Given the description of an element on the screen output the (x, y) to click on. 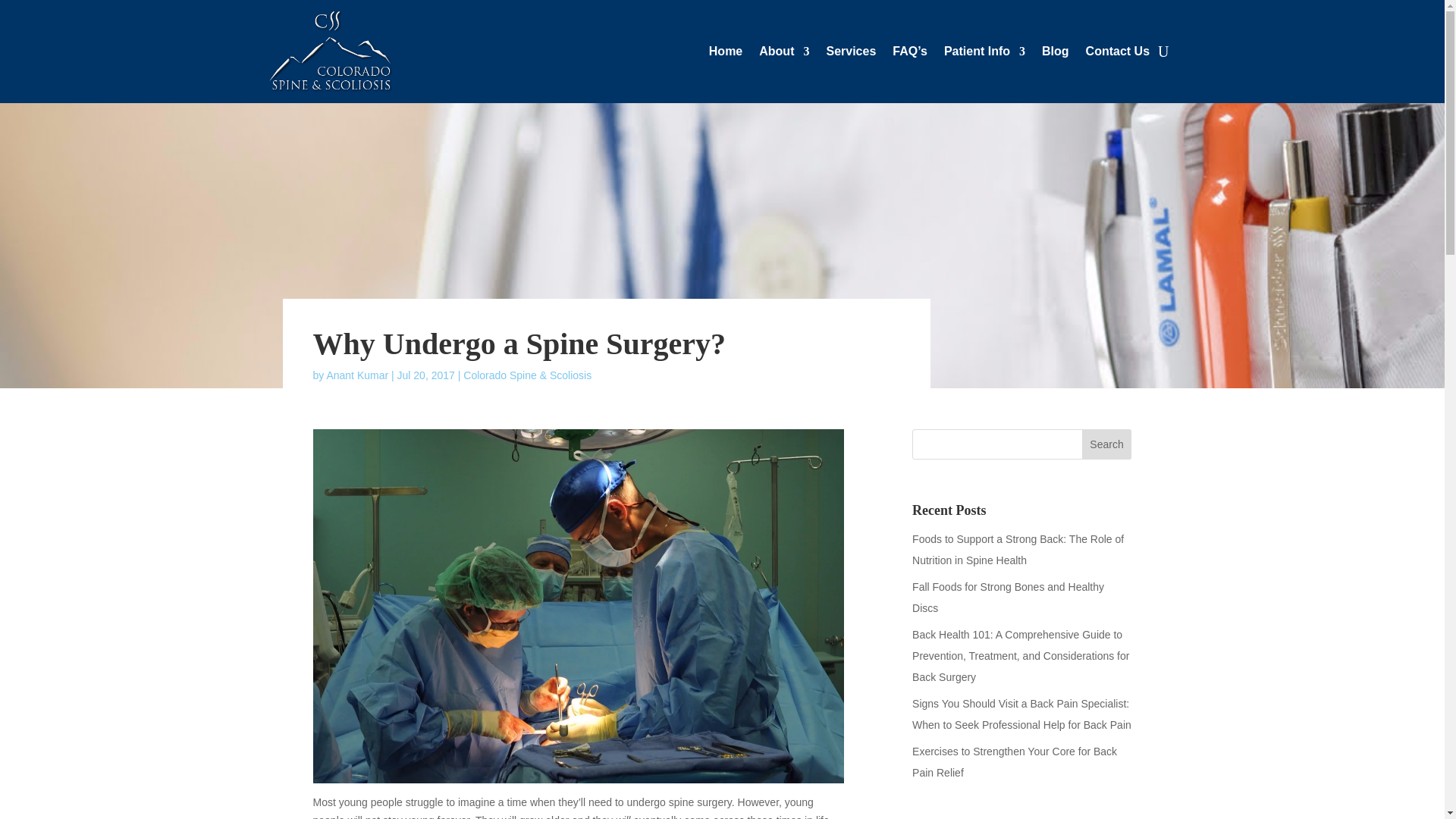
Contact Us (1118, 54)
colorado-back-and-spine-logo (331, 51)
Blog (1055, 54)
About (783, 54)
Patient Info (984, 54)
Services (850, 54)
Search (1106, 444)
Home (725, 54)
Posts by Anant Kumar (357, 375)
Anant Kumar (357, 375)
